Given the description of an element on the screen output the (x, y) to click on. 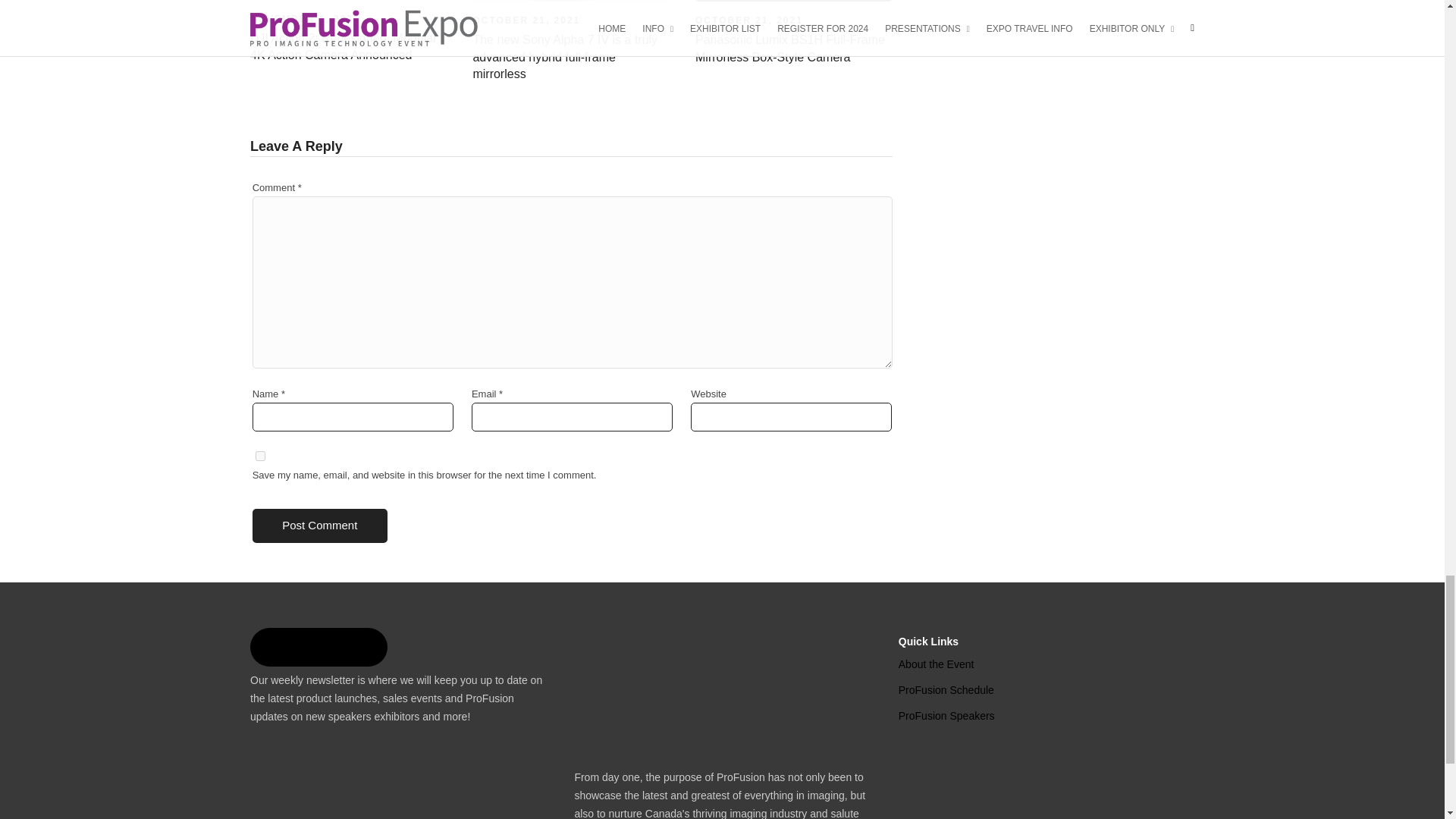
DJI Action 2: Redesigned, Modular 4K Action Camera Announced (304, 18)
yes (260, 456)
Post Comment (319, 525)
Panasonic Lumix BS1H Full-Frame Mirrorless Box-Style Camera (749, 20)
DJI Action 2: Redesigned, Modular 4K Action Camera Announced (343, 46)
Panasonic Lumix BS1H Full-Frame Mirrorless Box-Style Camera (790, 48)
